Given the description of an element on the screen output the (x, y) to click on. 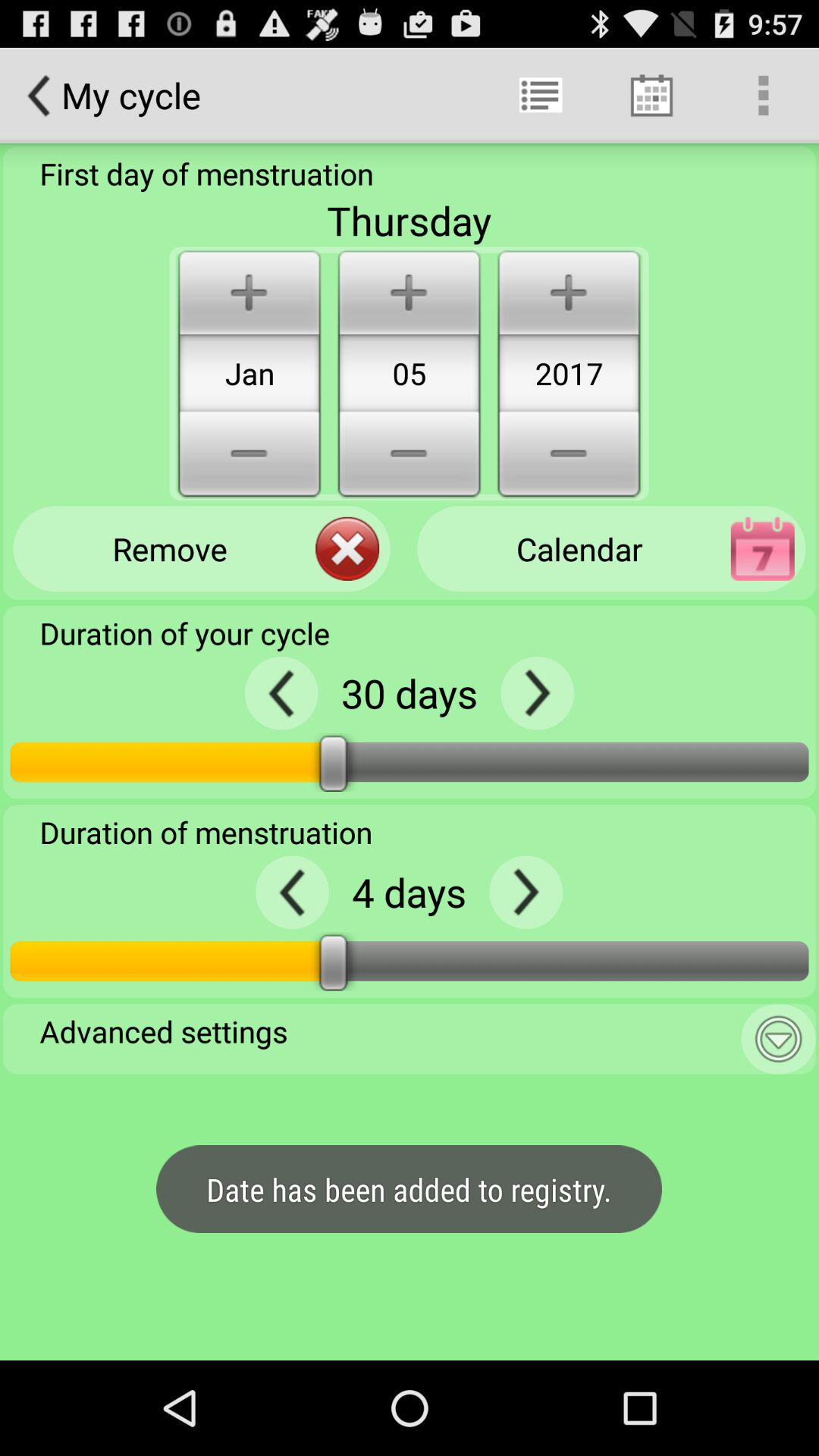
open advanced settings (778, 1039)
